Given the description of an element on the screen output the (x, y) to click on. 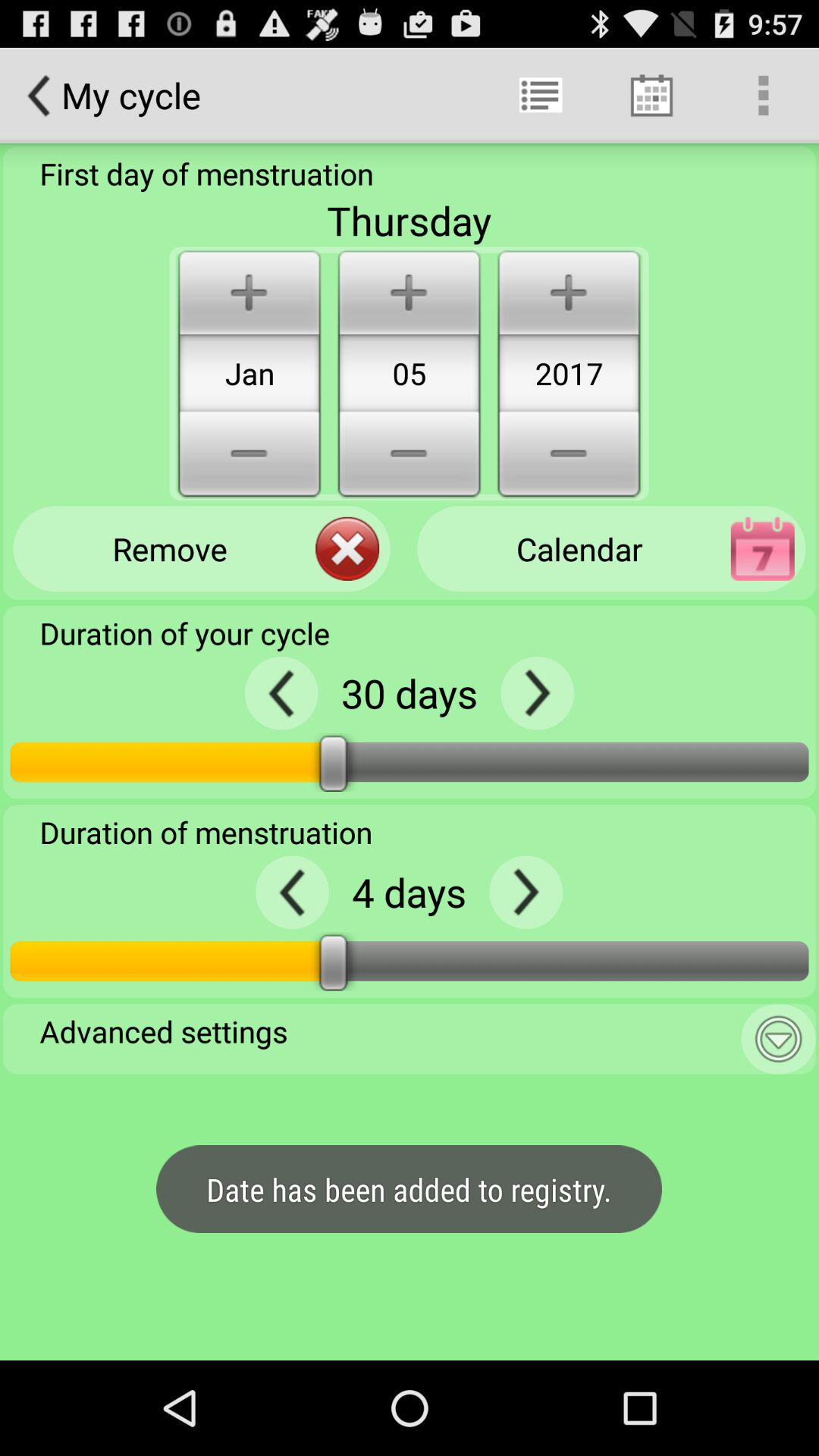
open advanced settings (778, 1039)
